Given the description of an element on the screen output the (x, y) to click on. 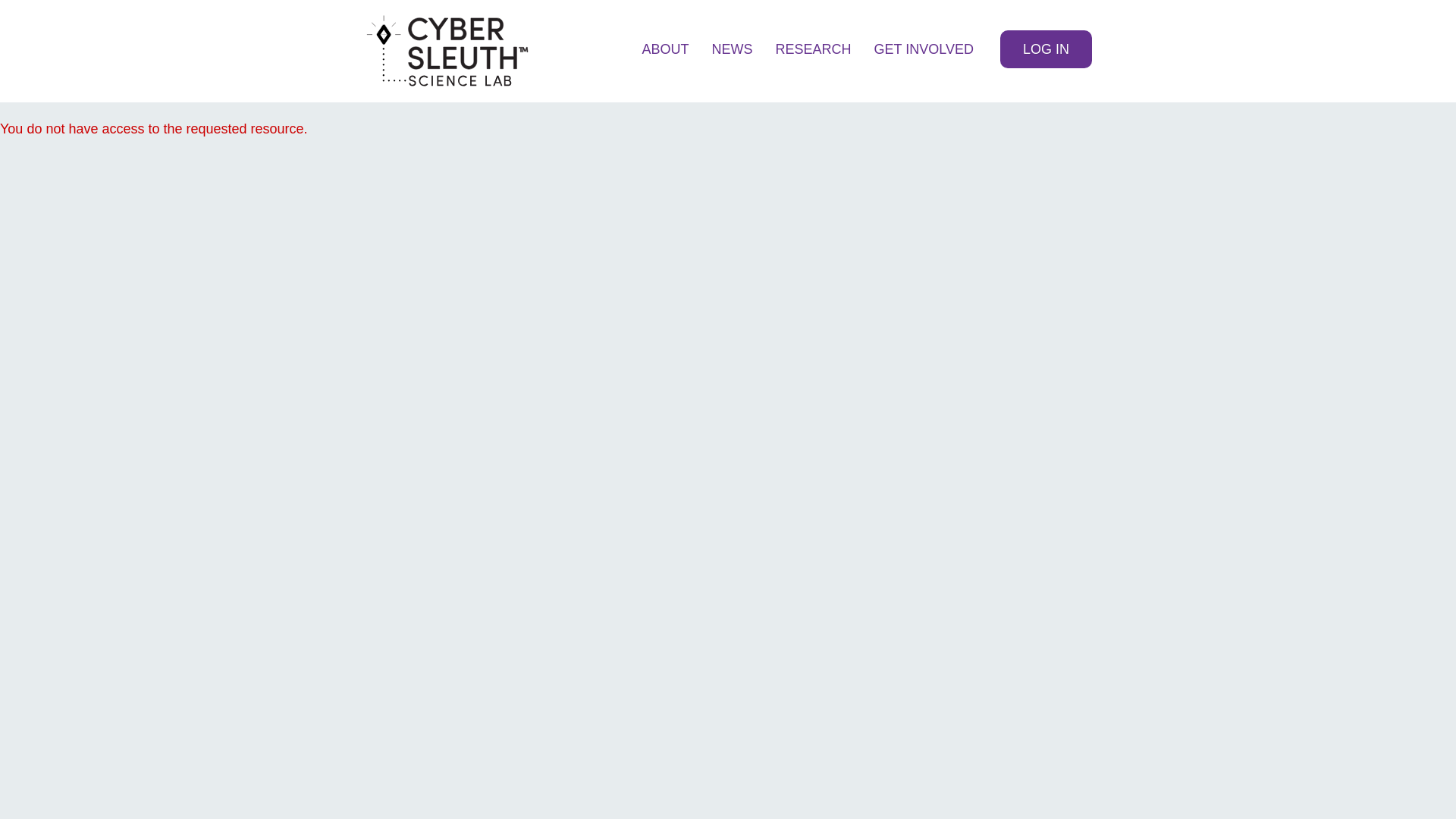
NEWS (732, 51)
LOG IN (1046, 48)
GET INVOLVED (924, 51)
Cyber Sleuth Science Lab (447, 50)
RESEARCH (813, 51)
ABOUT (665, 51)
